Given the description of an element on the screen output the (x, y) to click on. 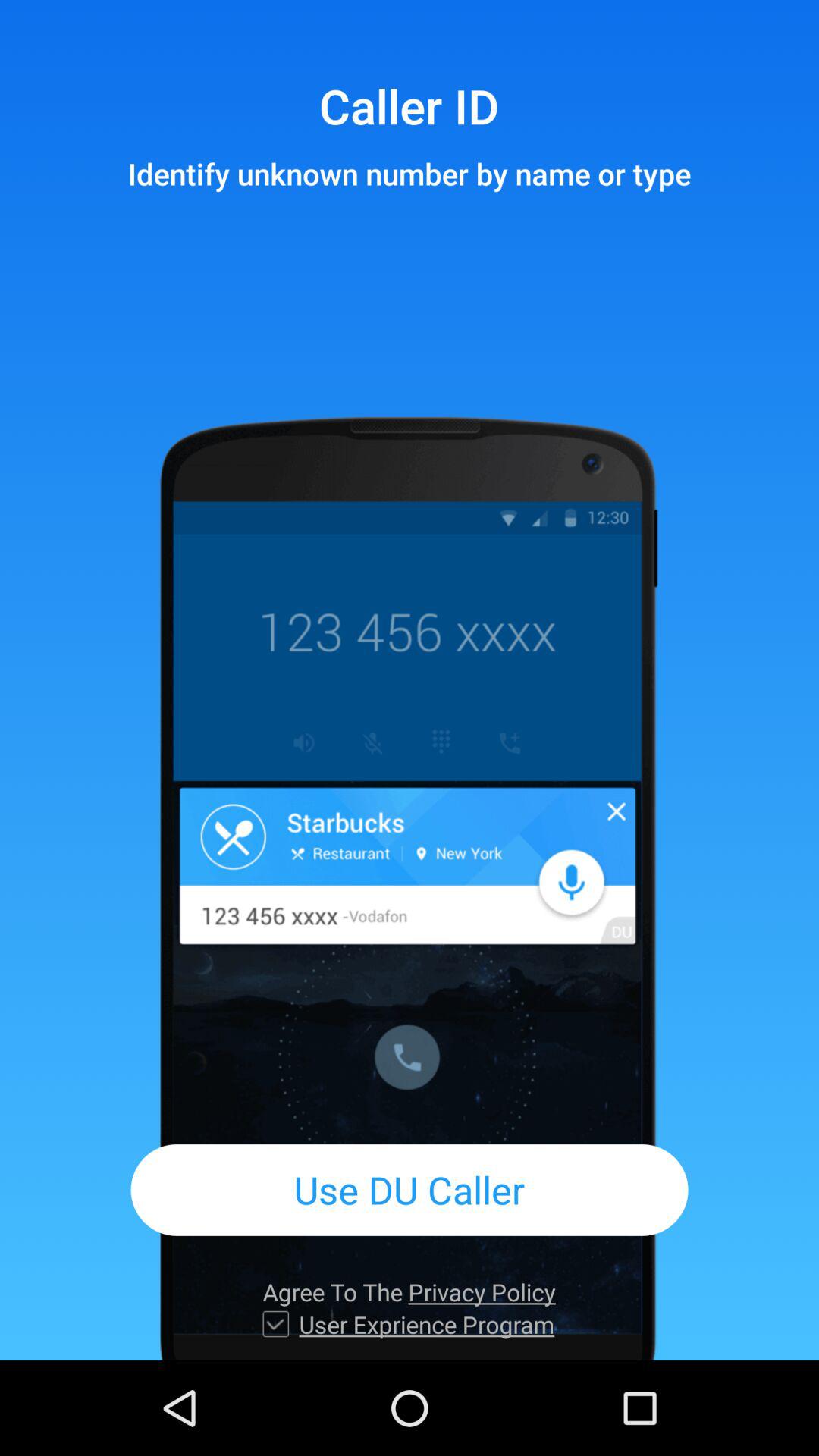
open icon next to user exprience program icon (275, 1323)
